Given the description of an element on the screen output the (x, y) to click on. 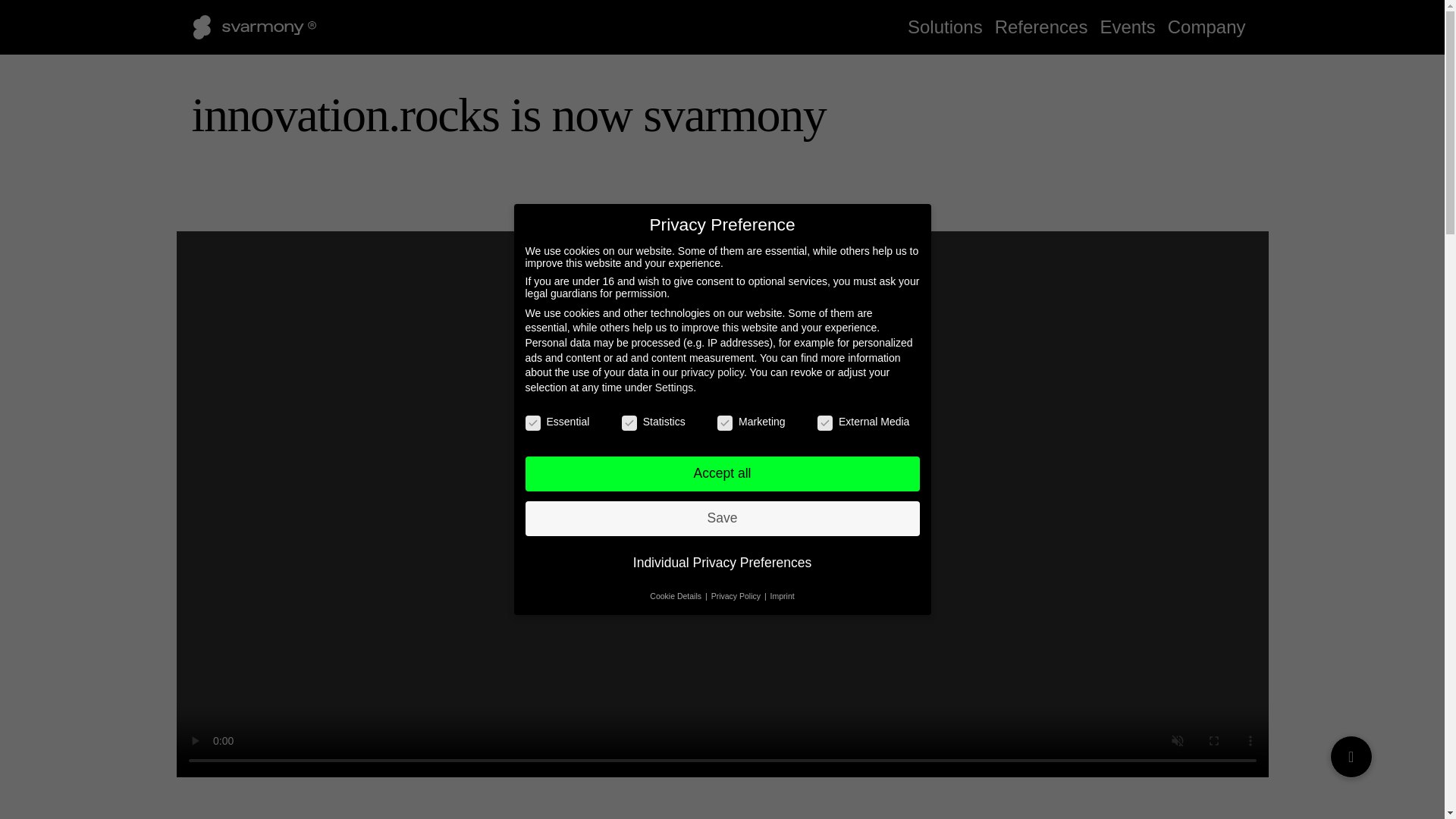
Events (1126, 26)
Imprint (782, 595)
Privacy Policy (736, 595)
privacy policy (712, 372)
Cookie Details (676, 595)
Solutions (944, 26)
Save (721, 518)
Settings (674, 387)
Accept all (721, 473)
Company (1206, 26)
Individual Privacy Preferences (721, 563)
References (1041, 26)
